Given the description of an element on the screen output the (x, y) to click on. 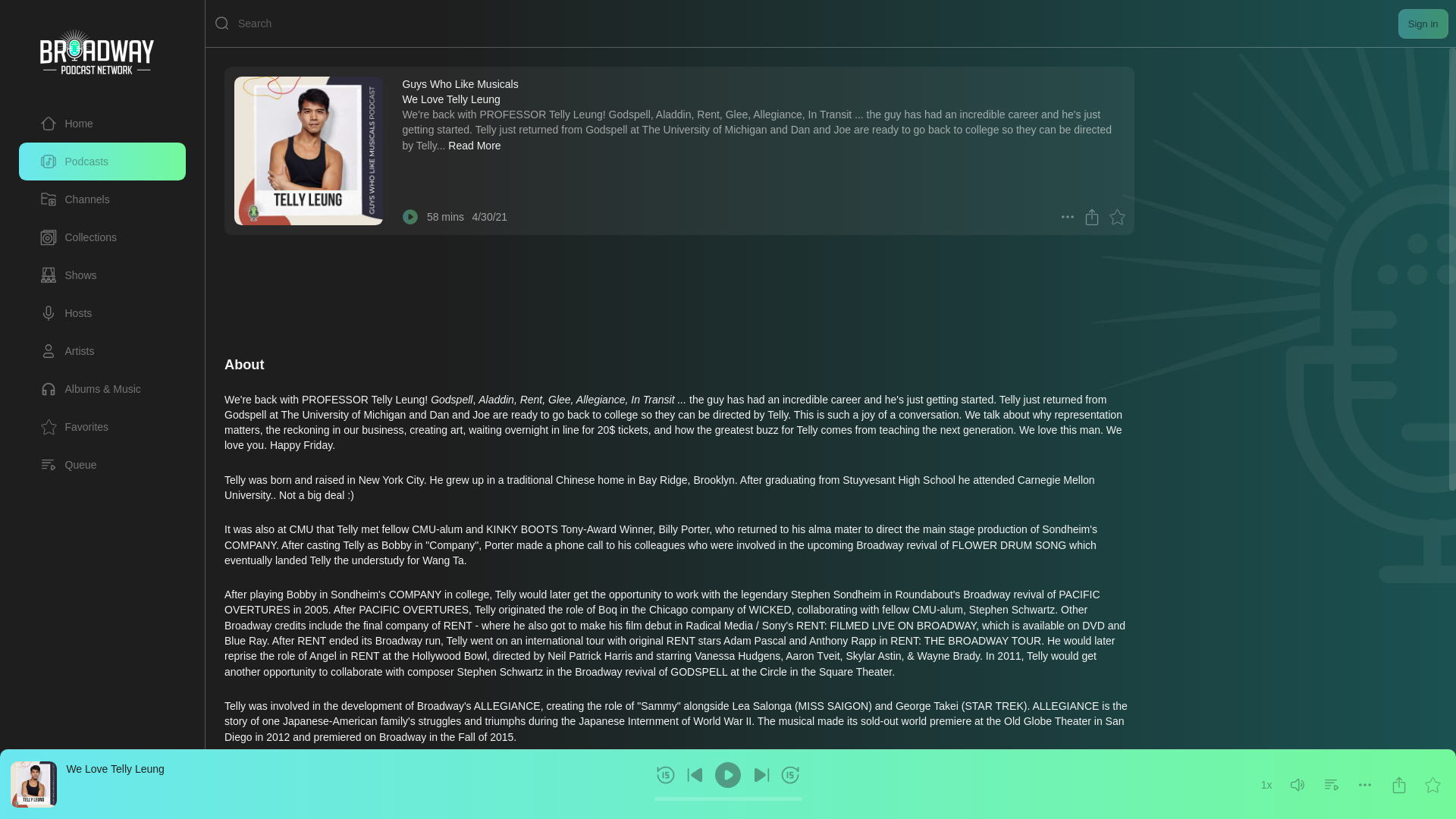
Shows (68, 274)
We Love Telly Leung (114, 768)
Home (66, 123)
Favorites (73, 426)
Guys Who Like Musicals (459, 82)
Artists (102, 351)
Queue (102, 464)
Home (102, 123)
Hosts (65, 312)
Artists (67, 351)
